Given the description of an element on the screen output the (x, y) to click on. 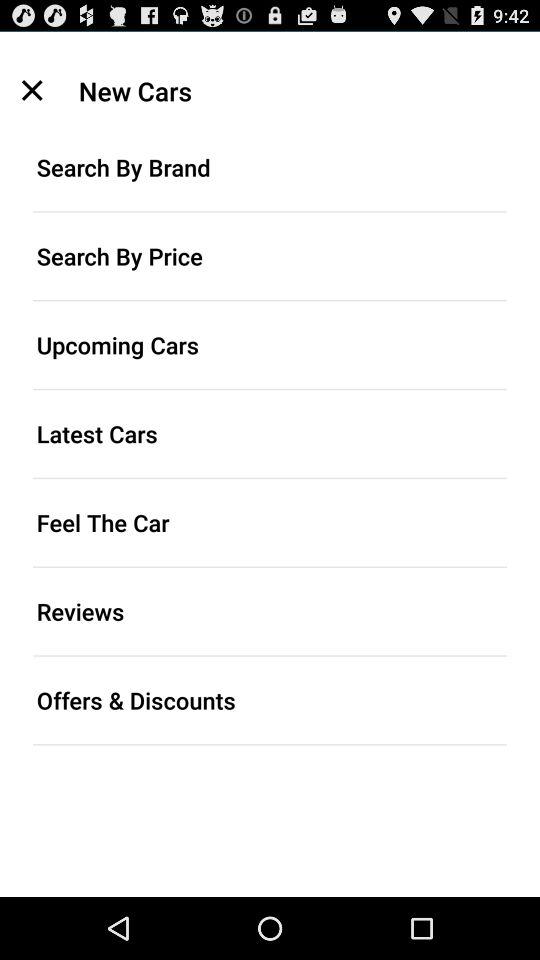
scroll to latest cars item (270, 433)
